Given the description of an element on the screen output the (x, y) to click on. 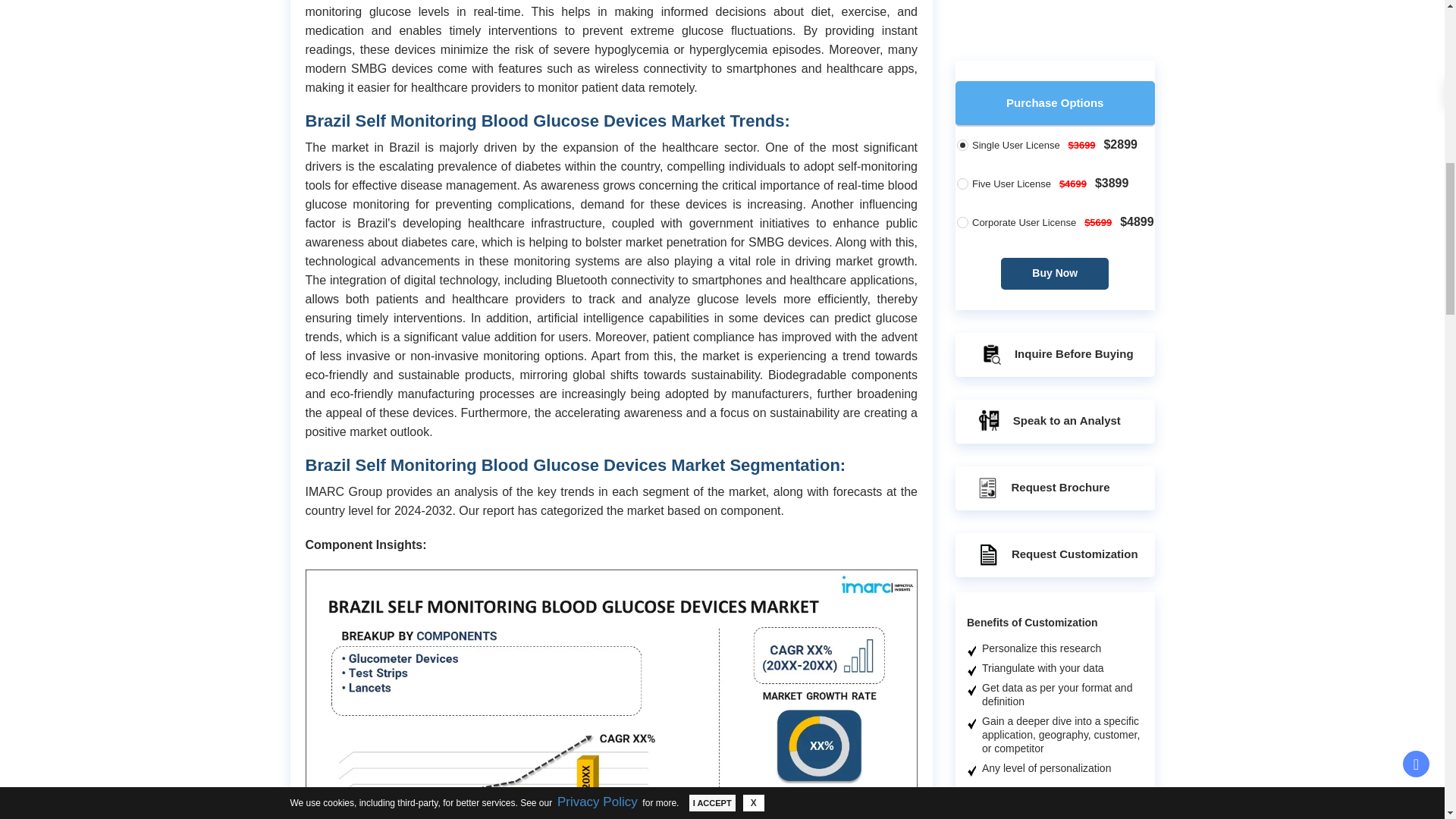
Know more (1081, 812)
